Given the description of an element on the screen output the (x, y) to click on. 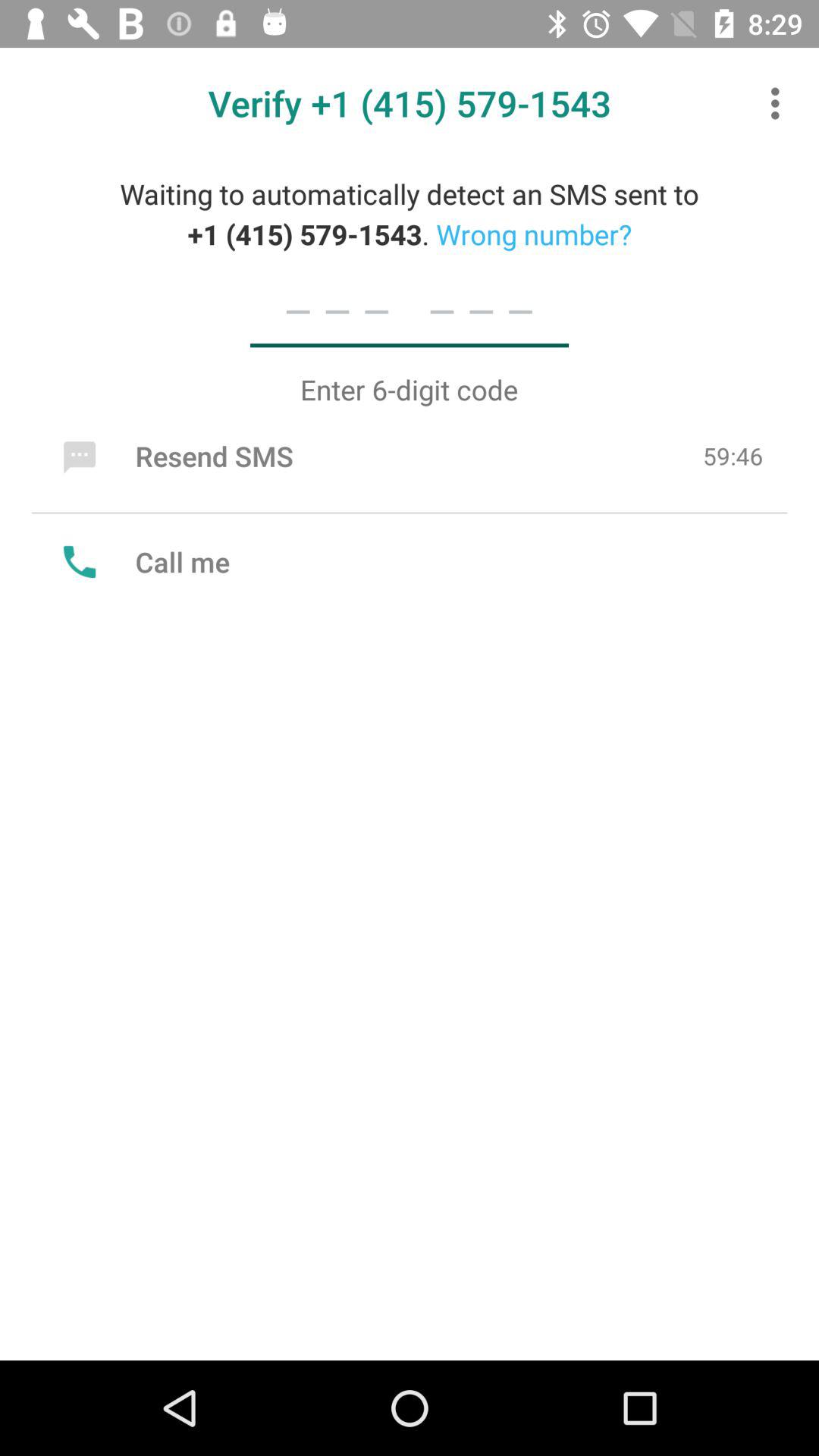
tap item at the top right corner (779, 103)
